Given the description of an element on the screen output the (x, y) to click on. 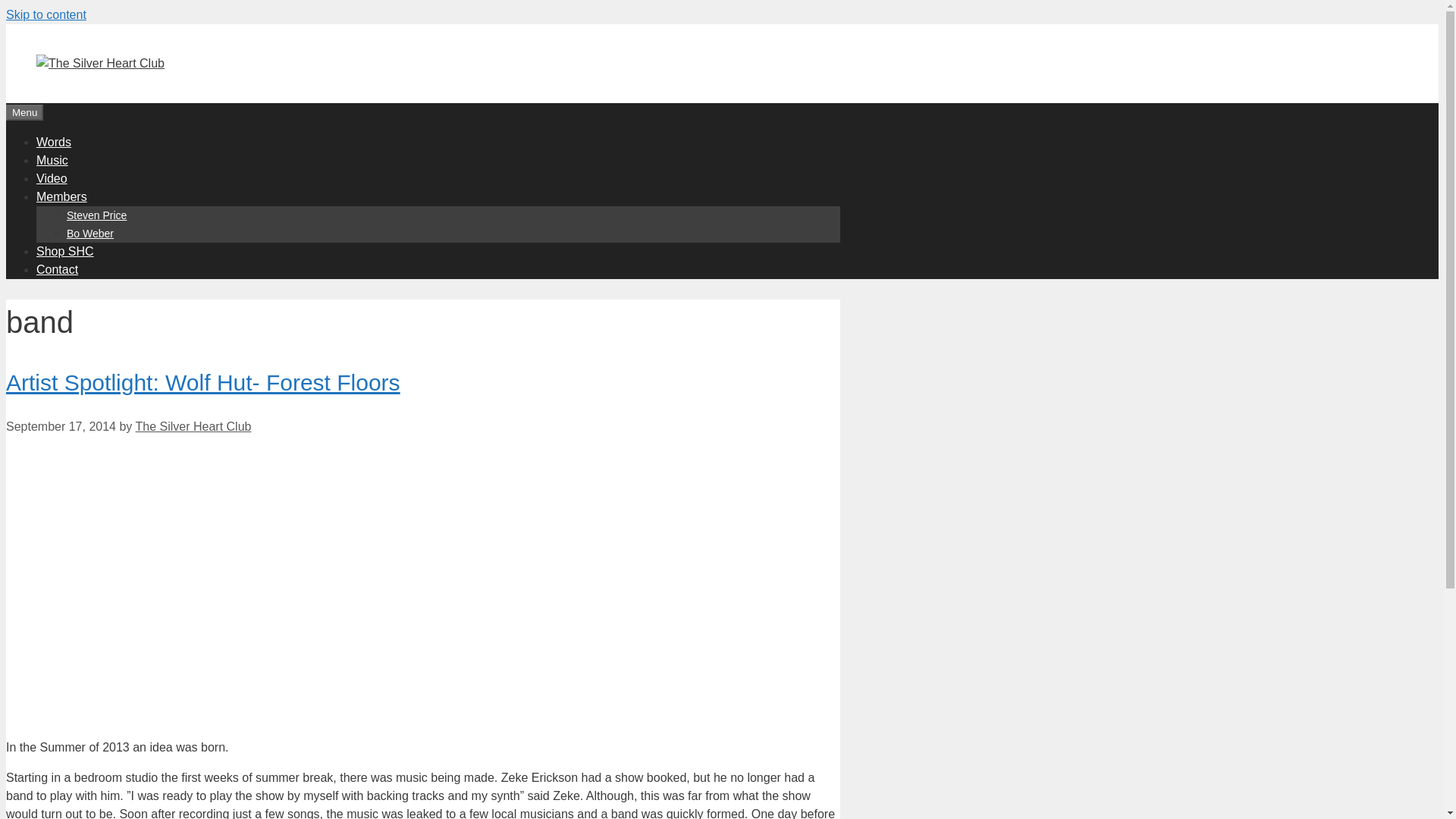
Menu (24, 112)
Skip to content (45, 14)
Bo Weber (89, 233)
Contact (57, 269)
The Silver Heart Club (193, 426)
Music (52, 160)
View all posts by The Silver Heart Club (193, 426)
Video (51, 178)
Steven Price (96, 215)
Words (53, 141)
